Given the description of an element on the screen output the (x, y) to click on. 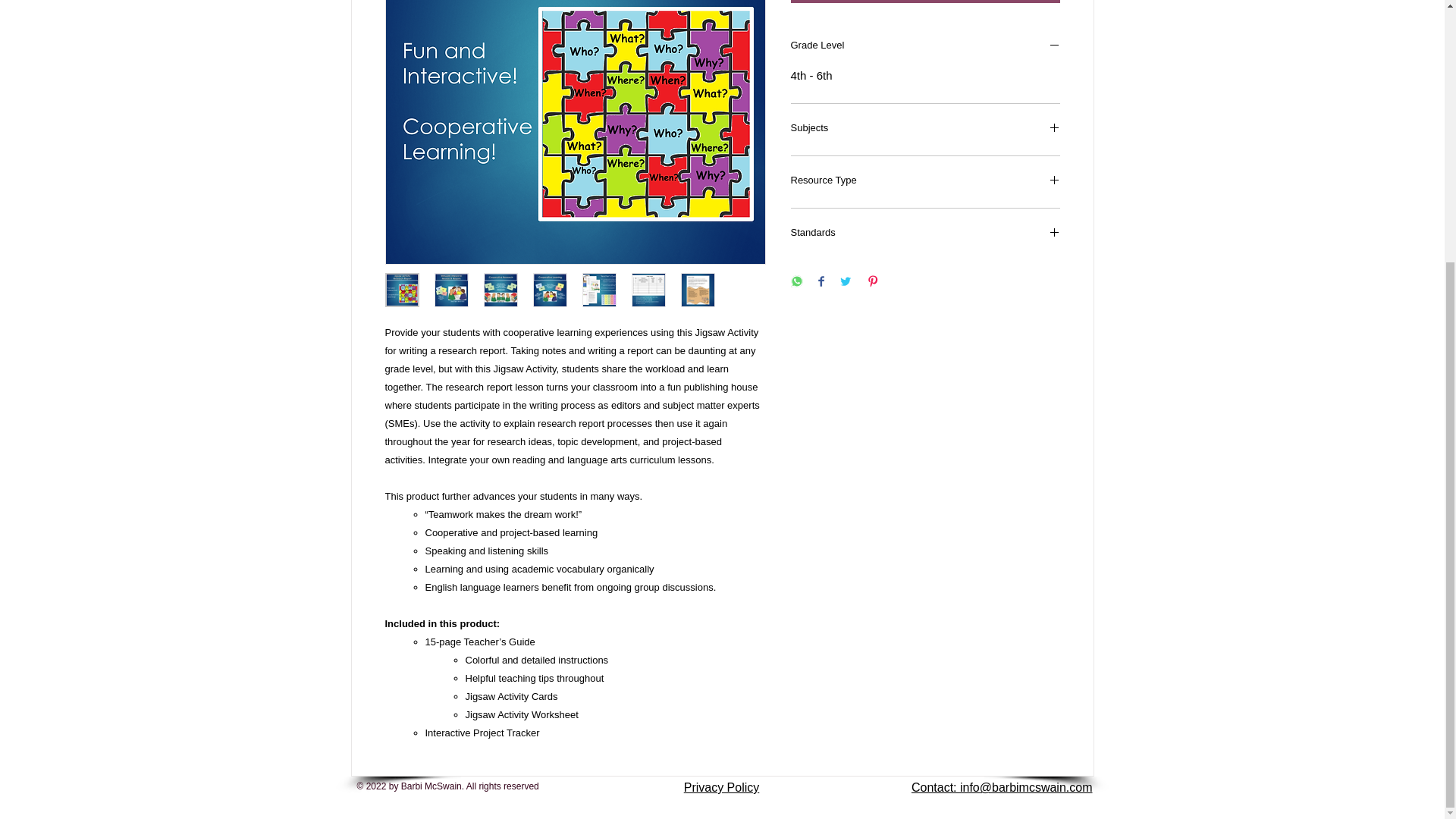
Standards (924, 233)
Privacy Policy (722, 787)
Resource Type (924, 181)
Grade Level (924, 46)
Subjects (924, 129)
Add to Cart (924, 1)
